Given the description of an element on the screen output the (x, y) to click on. 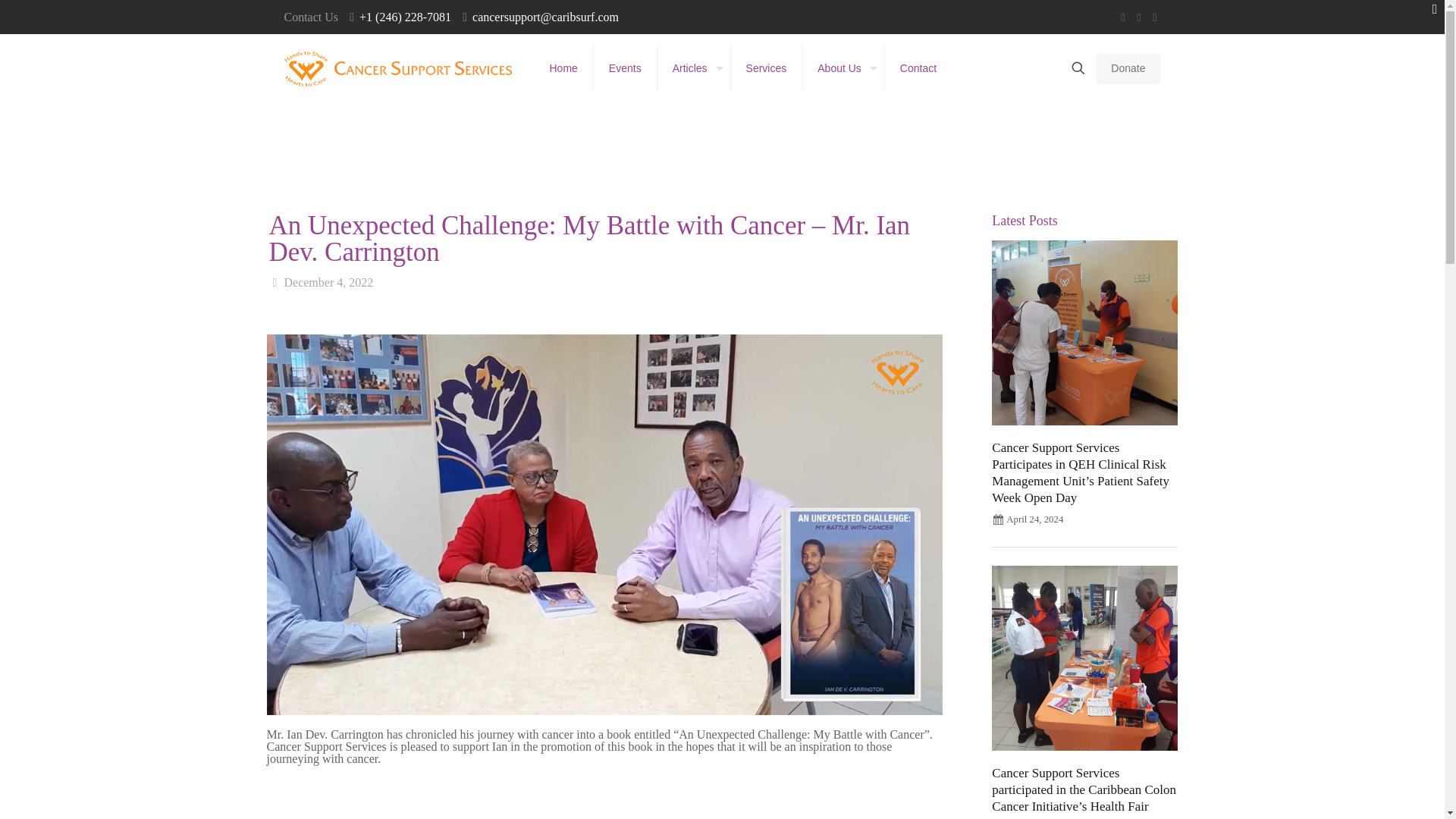
Cancer Support Services (397, 68)
Services (766, 68)
About Us (843, 68)
Contact (918, 68)
Instagram (1155, 17)
Donate (1128, 68)
YouTube video player (604, 797)
Articles (694, 68)
Facebook (1123, 17)
Events (626, 68)
YouTube (1138, 17)
